Given the description of an element on the screen output the (x, y) to click on. 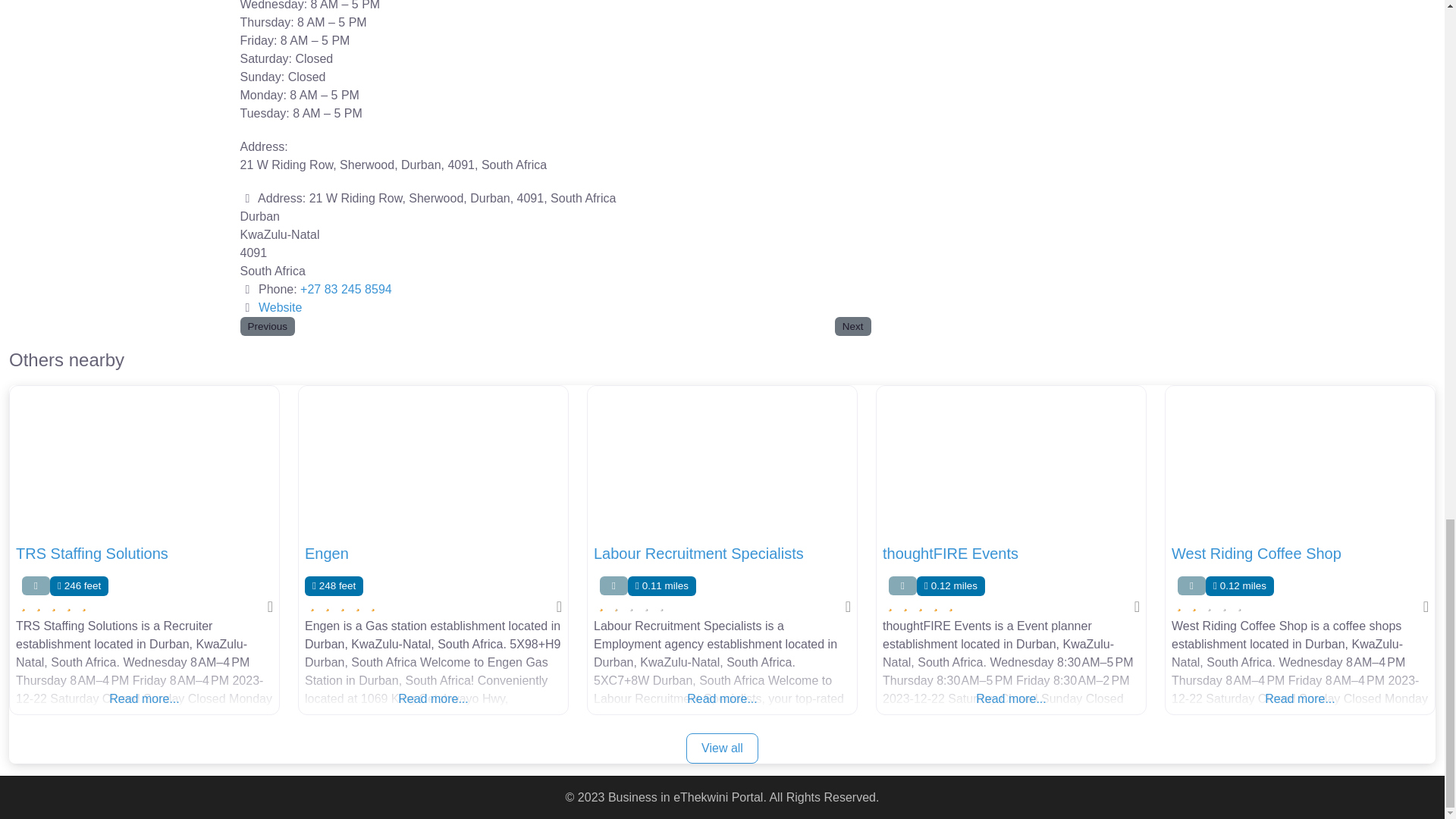
Read more... (433, 680)
Read more... (144, 680)
Engen (326, 553)
246 feet (78, 585)
248 feet (333, 585)
0.11 miles (661, 585)
Distance from the current listing, click for directions. (78, 585)
Website (280, 307)
Previous (267, 325)
View: TRS Staffing Solutions (92, 553)
